Given the description of an element on the screen output the (x, y) to click on. 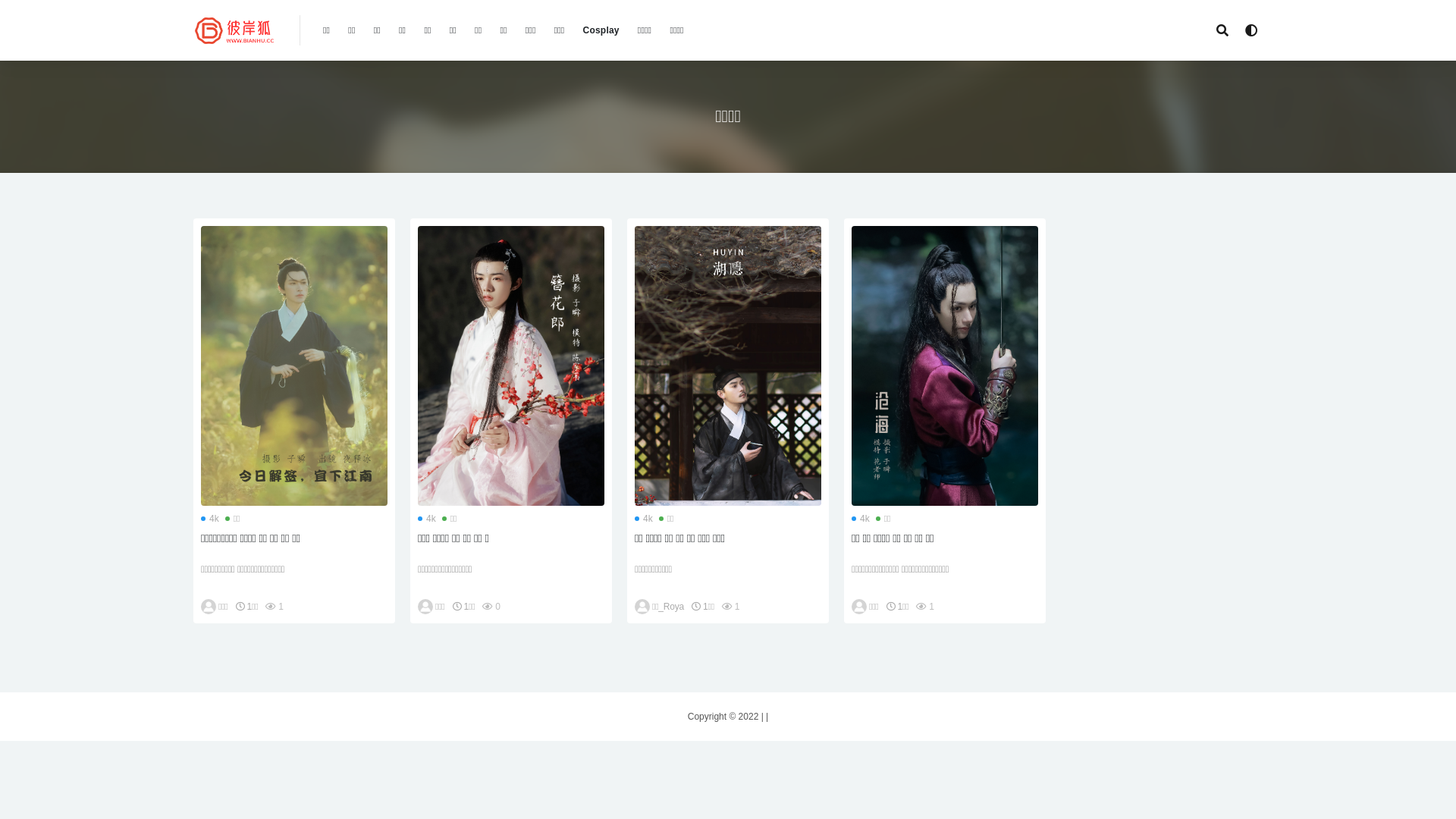
4k Element type: text (426, 518)
Cosplay Element type: text (601, 30)
4k Element type: text (209, 518)
4k Element type: text (643, 518)
4k Element type: text (860, 518)
